Given the description of an element on the screen output the (x, y) to click on. 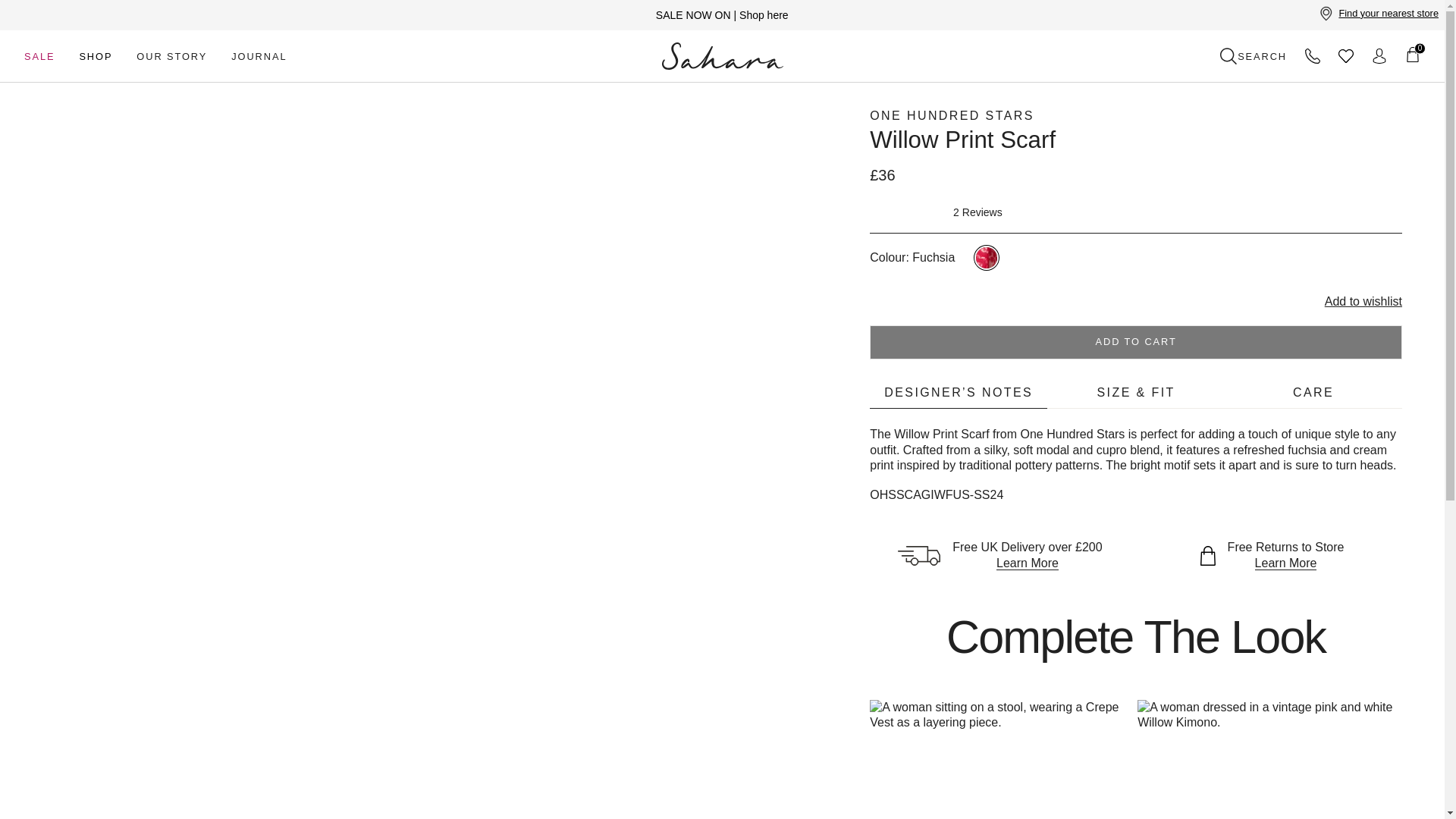
SHOP (94, 55)
Find your nearest store (1379, 13)
